Given the description of an element on the screen output the (x, y) to click on. 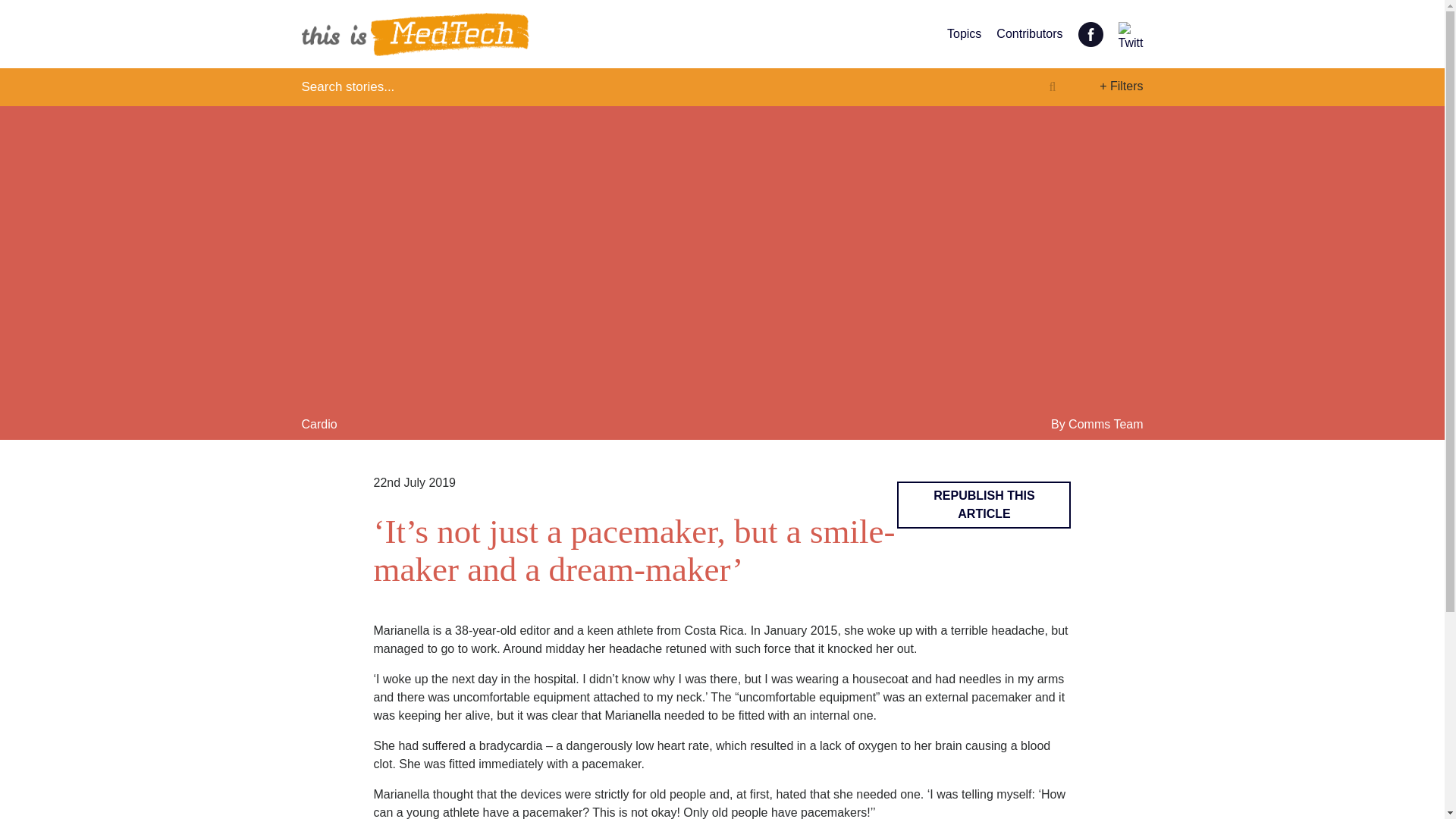
Search (596, 86)
Topics (964, 33)
Cardio (319, 423)
Contributors (1028, 33)
Comms Team (1105, 423)
Visit Thisismedtech Facebook page (1090, 32)
Visit Thisismedtech Twitter (1130, 32)
